Given the description of an element on the screen output the (x, y) to click on. 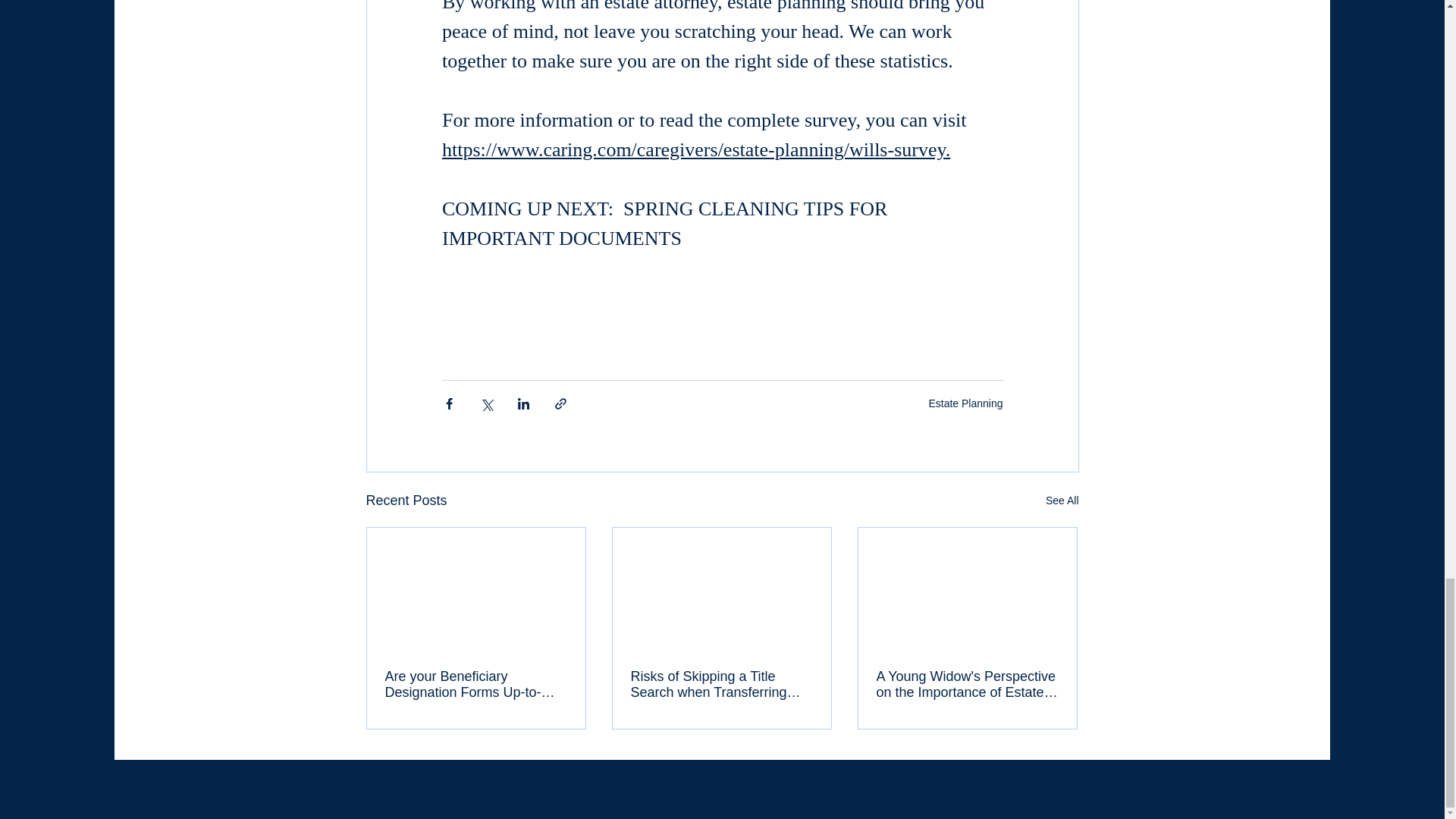
Estate Planning (965, 403)
See All (1061, 500)
Are your Beneficiary Designation Forms Up-to-Date? (476, 685)
